Given the description of an element on the screen output the (x, y) to click on. 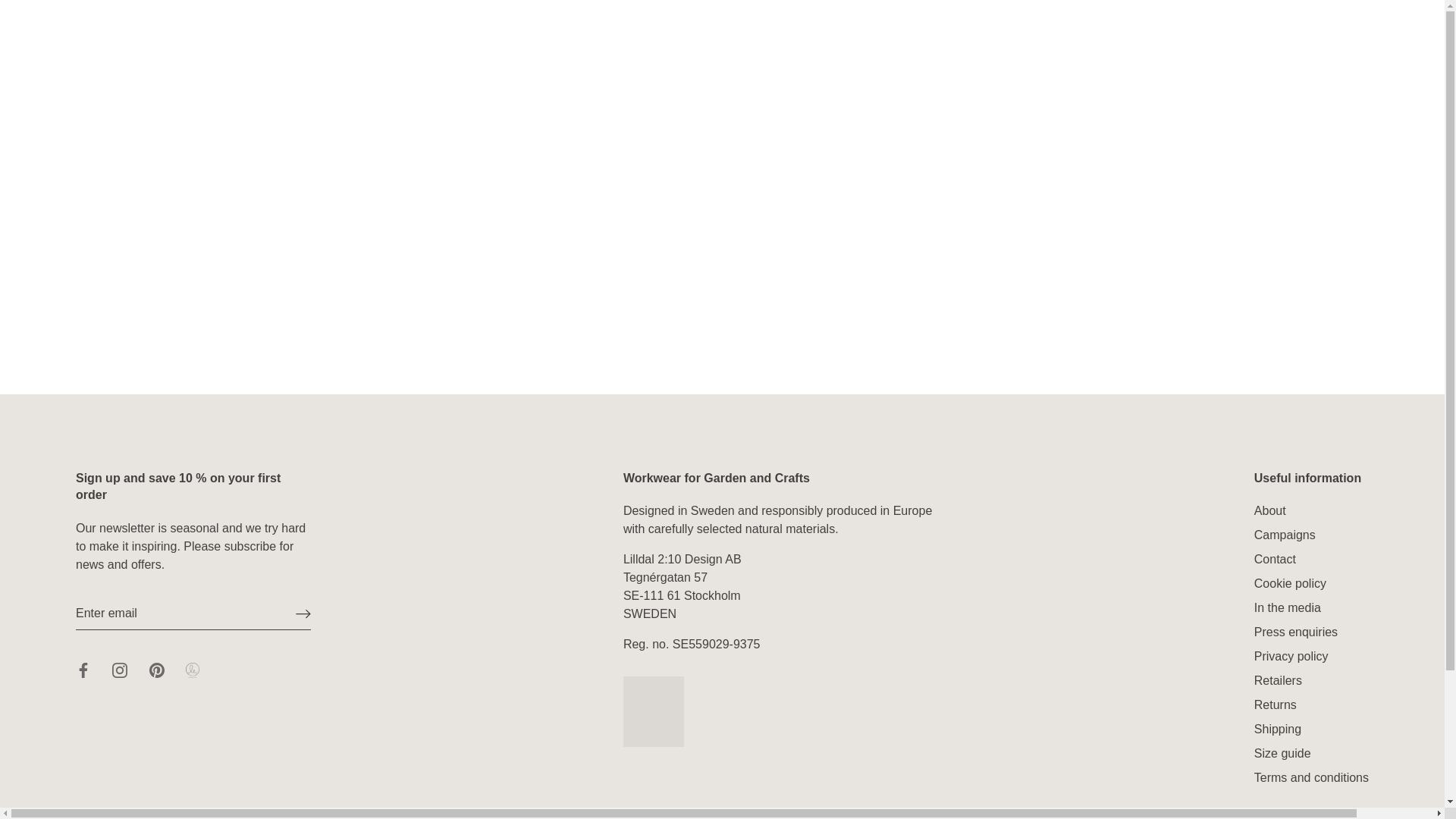
Right arrow long (303, 613)
Instagram (120, 670)
Pinterest (156, 670)
